Given the description of an element on the screen output the (x, y) to click on. 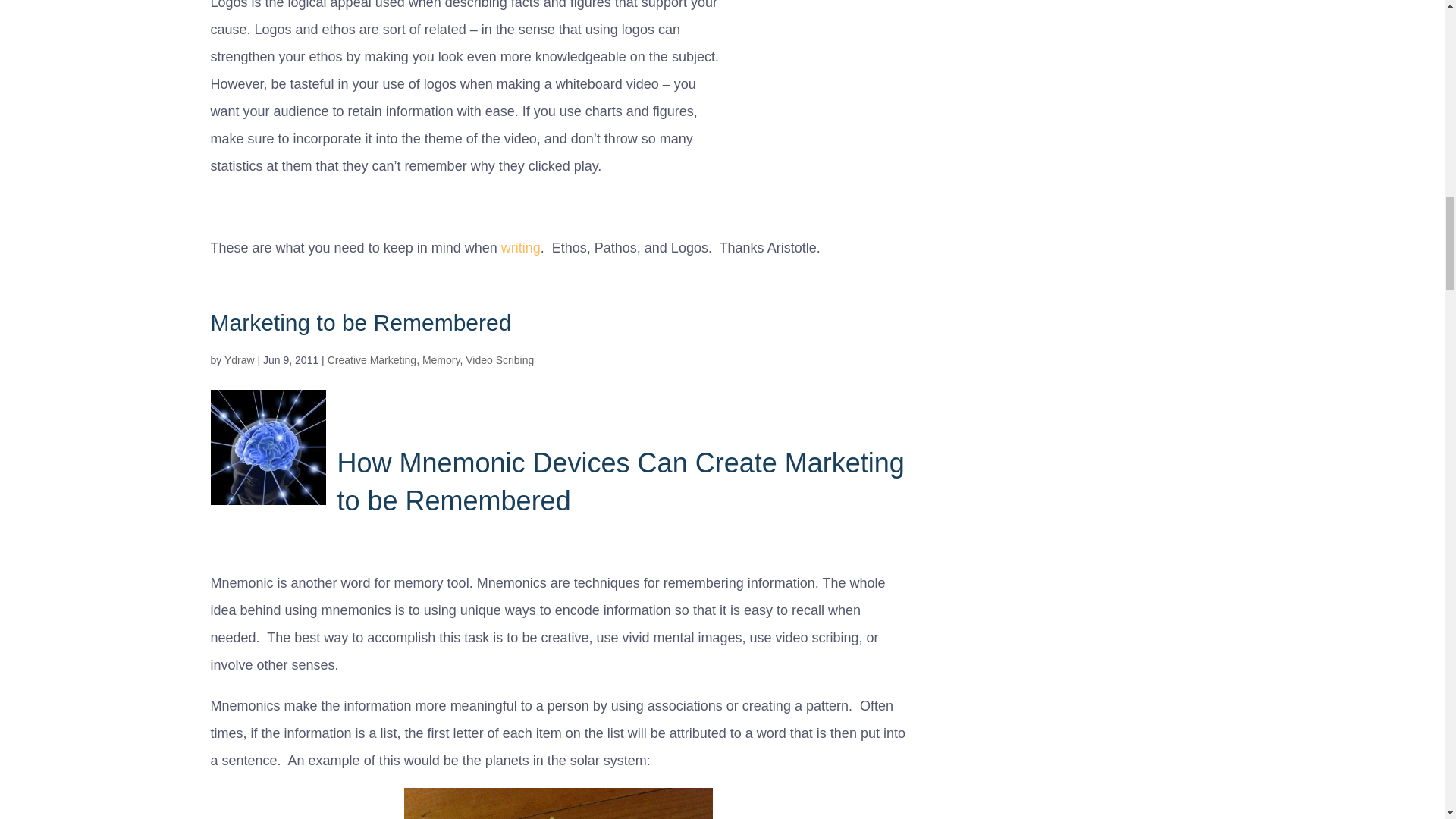
Ydraw (239, 359)
writing (520, 247)
Video Scribing (499, 359)
brain (268, 447)
Creative Marketing (371, 359)
Memory (441, 359)
Marketing to be Remembered (361, 322)
Posts by Ydraw (239, 359)
